Given the description of an element on the screen output the (x, y) to click on. 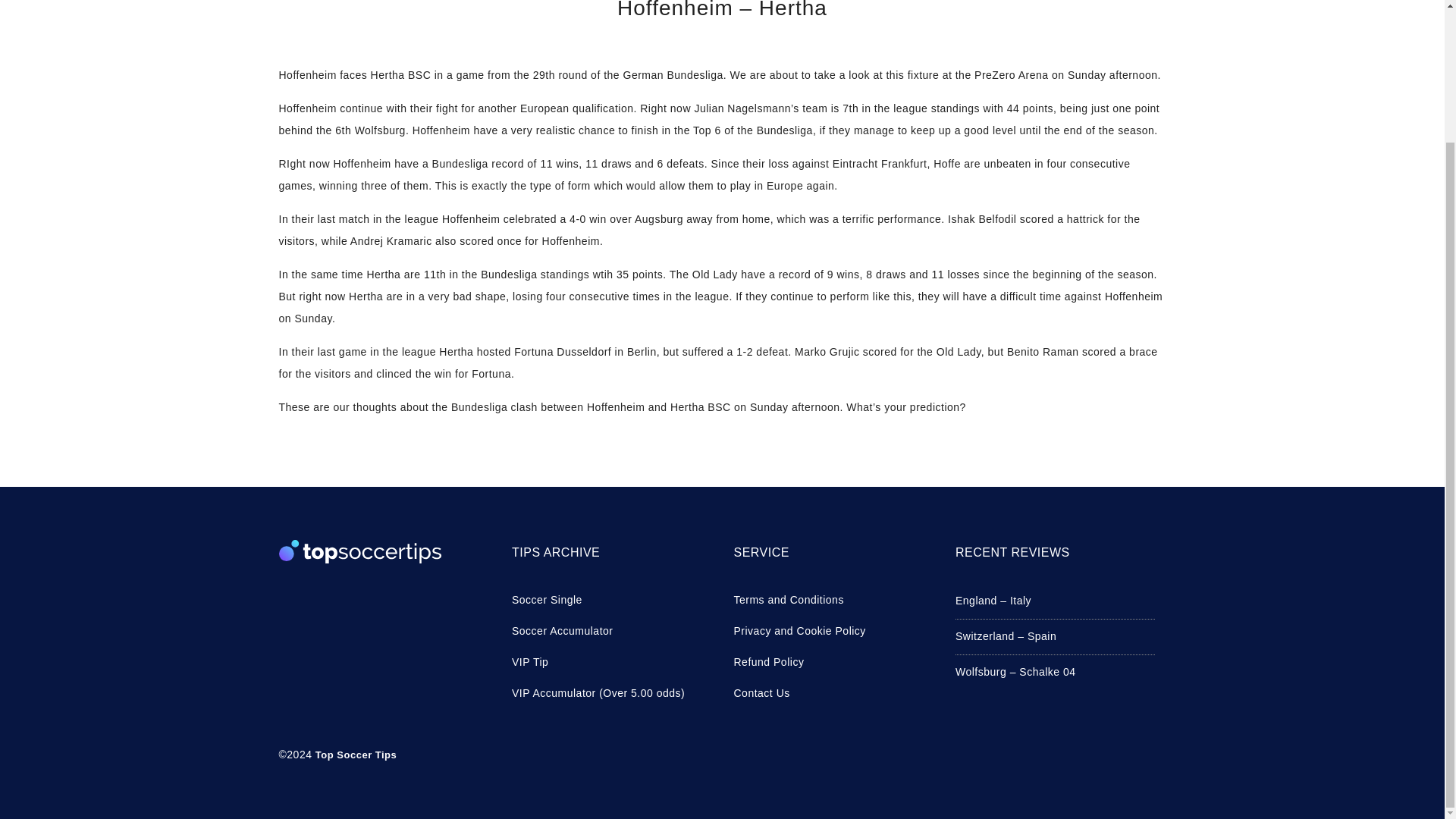
Refund Policy (833, 662)
Contact Us (833, 693)
Top Soccer Tips (355, 754)
Soccer Single (611, 599)
Privacy and Cookie Policy (833, 630)
Terms and Conditions (833, 599)
Top Soccer Tips (355, 754)
VIP Tip (611, 662)
Soccer Accumulator (611, 630)
